Given the description of an element on the screen output the (x, y) to click on. 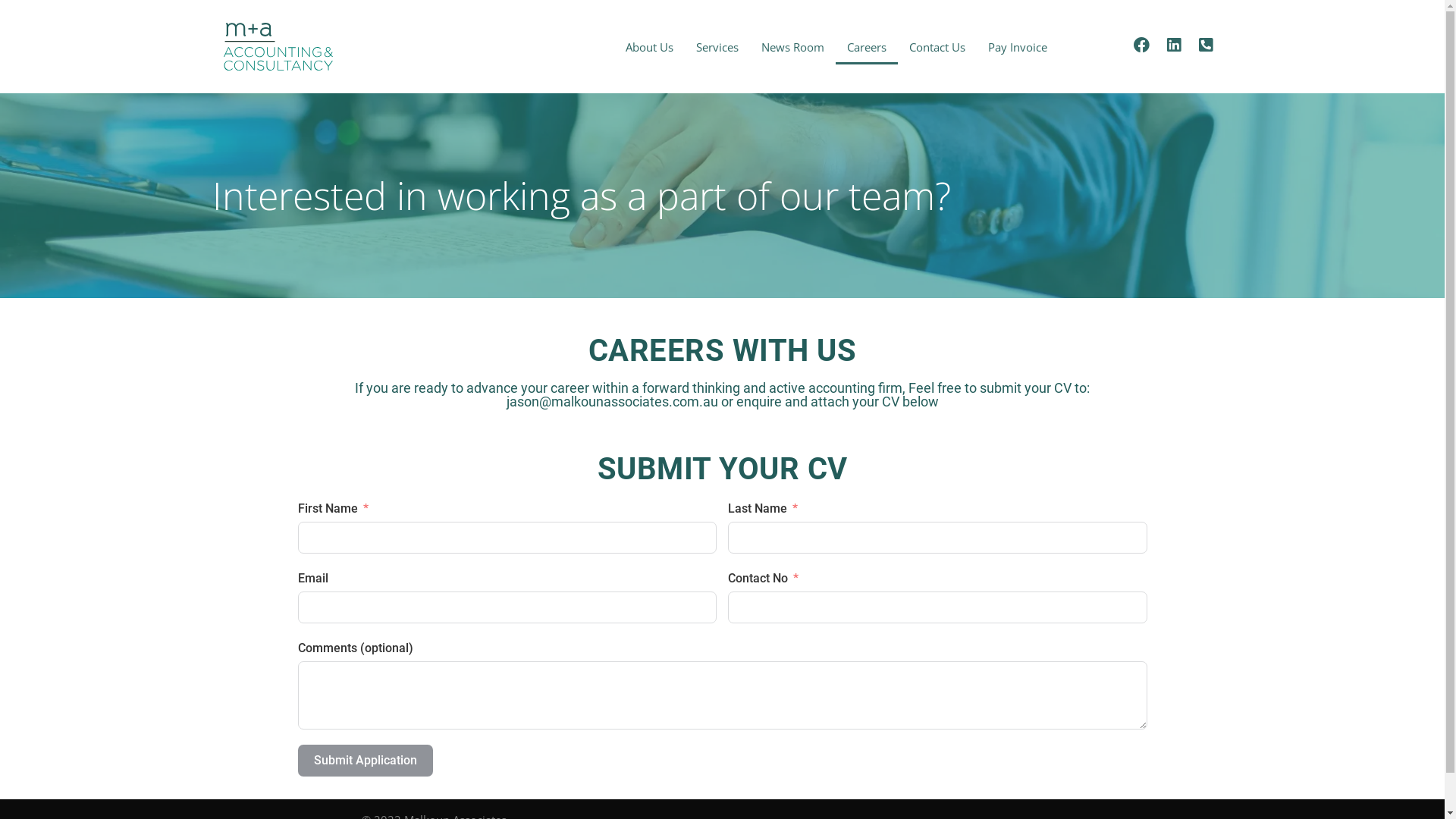
News Room Element type: text (792, 47)
Submit Application Element type: text (364, 760)
About Us Element type: text (649, 47)
Contact Us Element type: text (936, 47)
Services Element type: text (716, 47)
Pay Invoice Element type: text (1017, 47)
Careers Element type: text (866, 47)
